Given the description of an element on the screen output the (x, y) to click on. 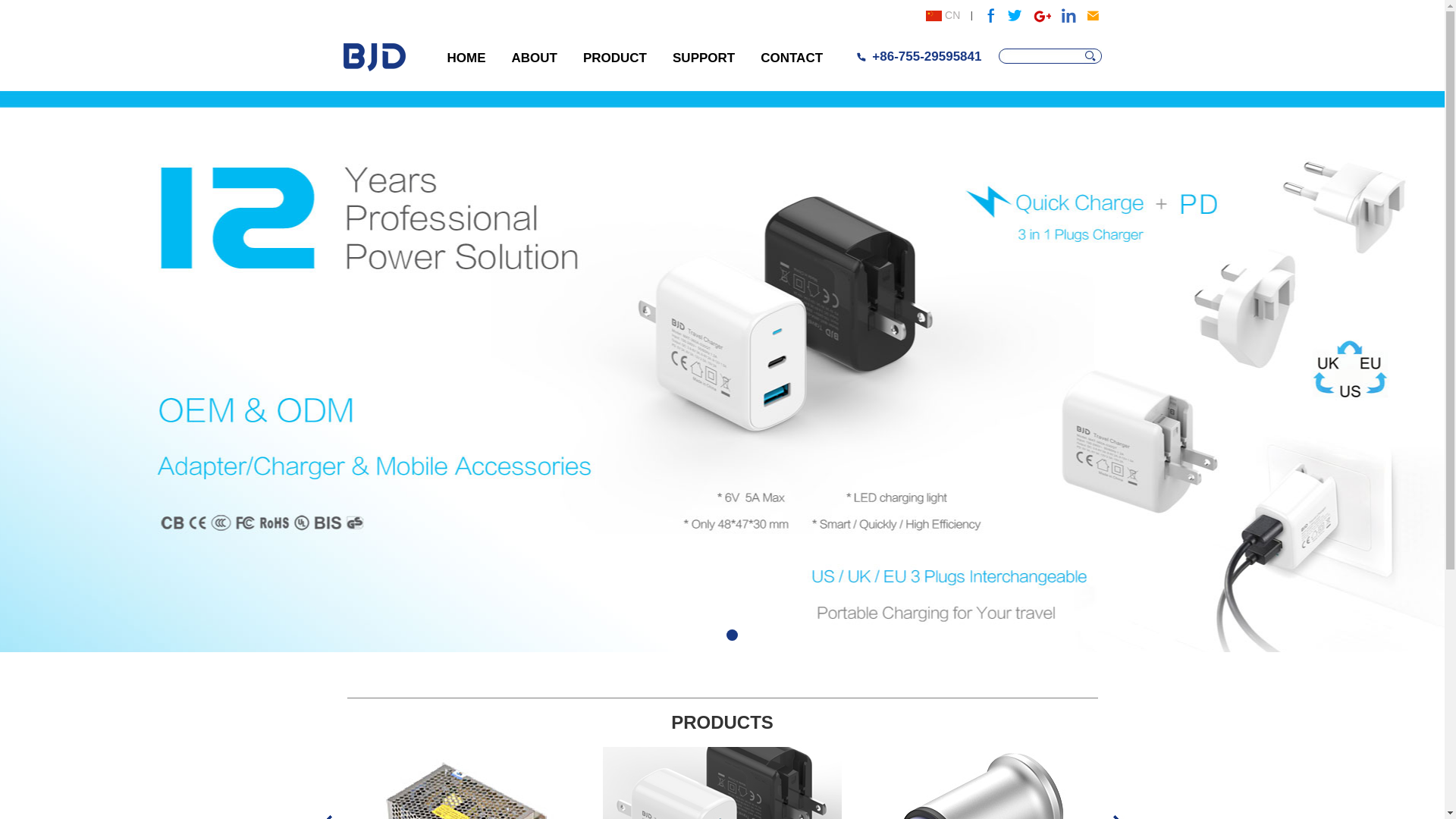
HOME Element type: text (465, 58)
ABOUT Element type: text (534, 58)
  Element type: text (1093, 55)
CN Element type: text (942, 15)
CONTACT Element type: text (791, 58)
SUPPORT Element type: text (703, 58)
PRODUCT Element type: text (614, 58)
